Given the description of an element on the screen output the (x, y) to click on. 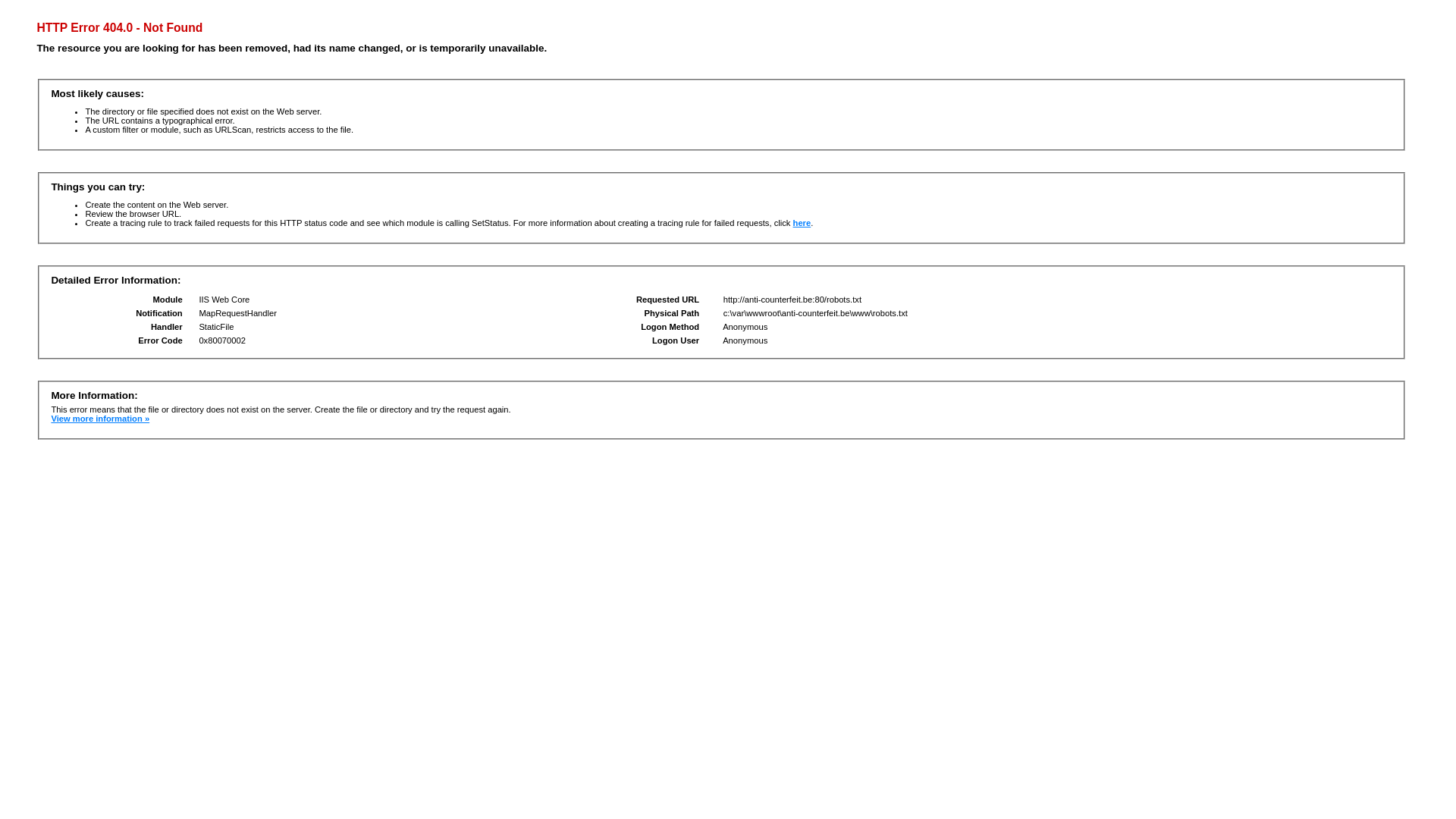
here Element type: text (802, 222)
